Given the description of an element on the screen output the (x, y) to click on. 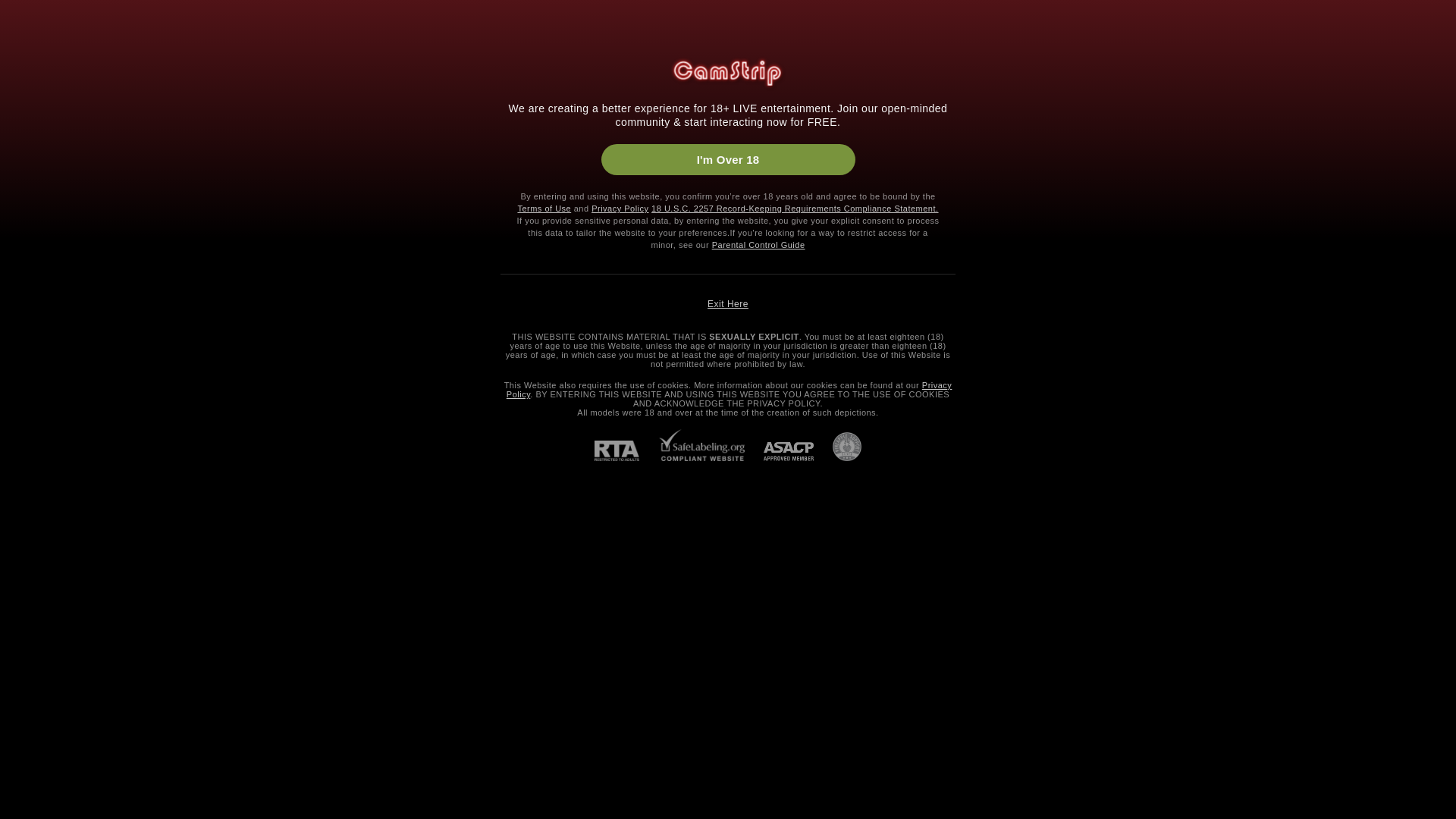
Home Element type: text (79, 96)
Create Free Account Element type: text (1298, 20)
sm-Yingzi Element type: text (900, 438)
White Element type: text (27, 753)
Skinny Element type: text (29, 812)
Privates Element type: text (511, 198)
All Element type: text (761, 198)
VR Cams Element type: text (49, 354)
ALL CATEGORIES + Element type: text (79, 800)
wangxx1 Element type: text (1095, 585)
Skinny Mature Element type: text (1216, 198)
Countries Element type: text (401, 198)
0O0O_00O-O00O0 Element type: text (706, 438)
Young 22+ Element type: text (38, 505)
helen_luce Element type: text (1095, 732)
Skinny Redhead Element type: text (1410, 198)
Arab Element type: text (25, 635)
Recommended Element type: text (79, 150)
7179 LIVE Element type: text (234, 20)
Categories Element type: text (1396, 56)
Mature Element type: text (30, 552)
Skinny Teen 18+ Element type: text (916, 198)
IsMiMi Element type: text (1289, 291)
MadelineEvans Element type: text (900, 585)
RebeccaXO_ Element type: text (318, 585)
Game_yoyo Element type: text (318, 438)
Linna2712 Element type: text (1289, 585)
Misatome Element type: text (706, 585)
Teen 18+ Element type: text (35, 481)
Privacy Policy Element type: text (619, 208)
Indian Element type: text (28, 706)
MILF Element type: text (26, 528)
jing_qing21 Element type: text (318, 732)
Trans Element type: text (226, 55)
Skinny Young 22+ Element type: text (1025, 198)
Granny Element type: text (31, 575)
Girls Element type: text (28, 55)
Activities on Request Element type: text (647, 198)
Ebony Element type: text (29, 682)
Flirting Element type: text (43, 401)
Appearance Element type: text (281, 198)
airisa Element type: text (900, 291)
Lorelein-23 Element type: text (512, 438)
Exit Here Element type: text (727, 303)
Lana_Lee_ Element type: text (900, 732)
Chinese Element type: text (46, 307)
New Models Element type: text (56, 331)
Selina-Kim Element type: text (1095, 438)
Skinny Blonde Element type: text (1311, 198)
Ukrainian Element type: text (49, 284)
My Favorites Element type: text (79, 176)
Latina Element type: text (28, 729)
Top Models Element type: text (336, 20)
Terms of Use Element type: text (544, 208)
Log In Element type: text (1400, 20)
Skinny MILF Element type: text (1124, 198)
Lovecrazy_1 Element type: text (318, 291)
Guys Element type: text (164, 55)
168SexyGirL Element type: text (512, 732)
MNana_love Element type: text (1289, 732)
New Skinny Element type: text (822, 198)
Asian Element type: text (27, 659)
CreaMBaby Element type: text (706, 732)
Couples Element type: text (95, 55)
GET DEALS Element type: text (1379, 103)
Abb_baby Element type: text (512, 585)
I'm Over 18 Element type: text (727, 159)
Parental Control Guide Element type: text (758, 244)
Feed Element type: text (79, 123)
Privacy Policy Element type: text (729, 389)
In Group Show
yaya-baby1 Element type: text (1095, 291)
Iris_horny_ Element type: text (512, 291)
Fetishes Element type: text (47, 378)
Juny-Lany Element type: text (706, 291)
Watch History Element type: text (79, 203)
AAAAAWWWW111 Element type: text (1289, 438)
